Given the description of an element on the screen output the (x, y) to click on. 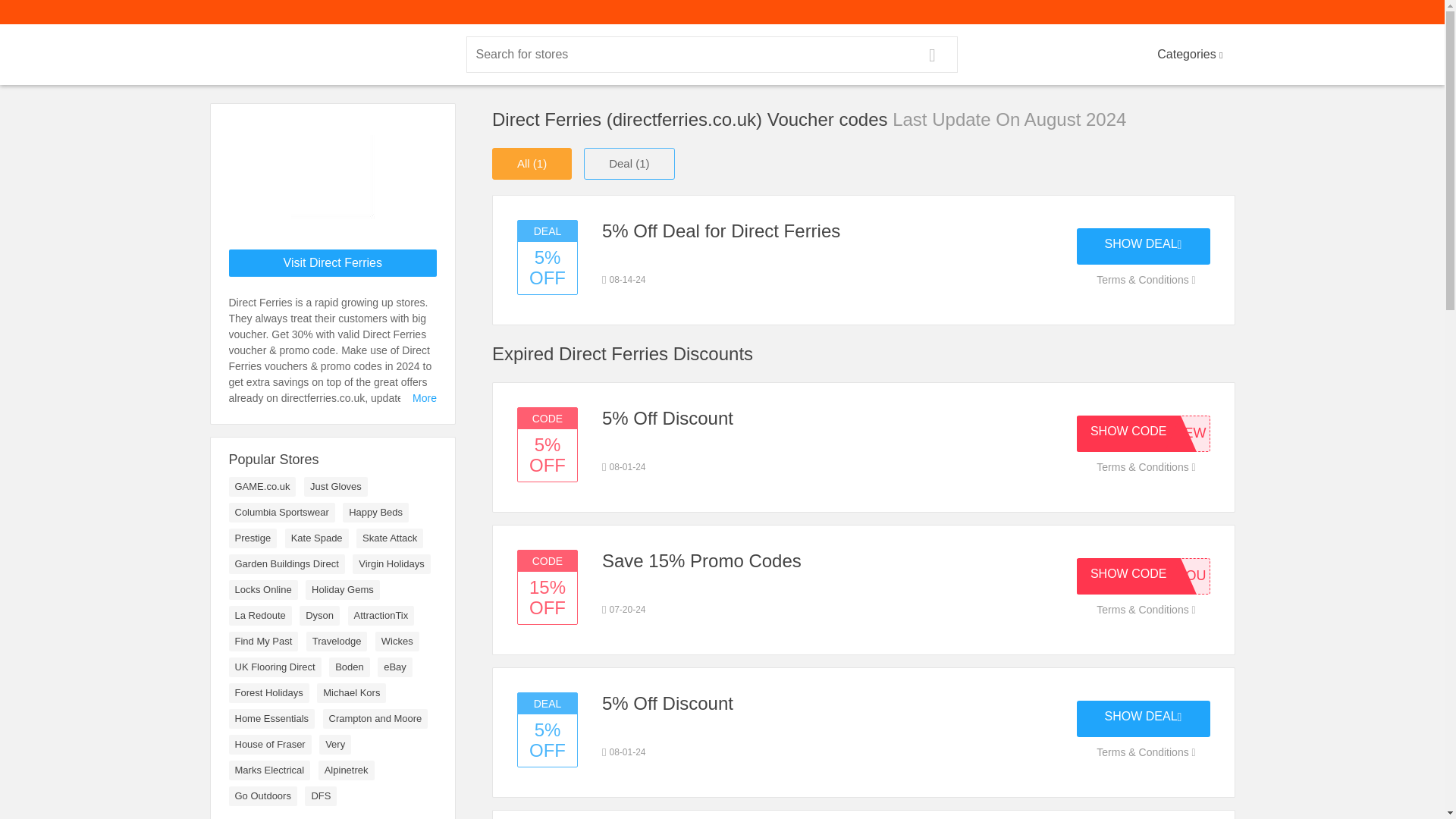
Garden Buildings Direct (286, 564)
AttractionTix (380, 615)
expires soon (624, 467)
expires soon (624, 279)
expires soon (624, 609)
Columbia Sportswear (281, 512)
Just Gloves (336, 486)
Virgin Holidays (390, 564)
expires soon (624, 752)
Kate Spade (317, 537)
